Given the description of an element on the screen output the (x, y) to click on. 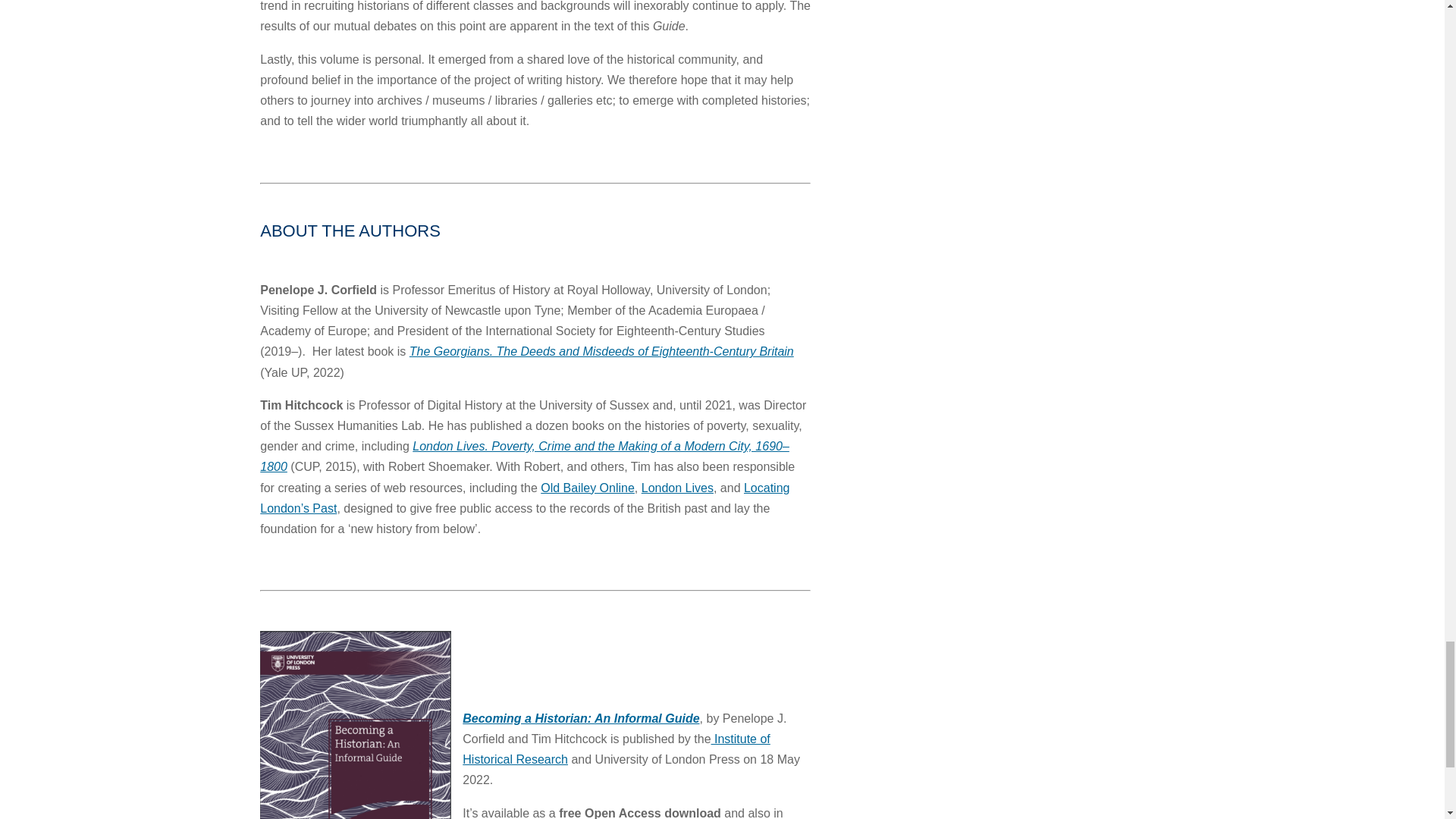
Institute of Historical Research (616, 748)
Old Bailey Online (587, 487)
London Lives (677, 487)
Becoming a Historian: An Informal Guide (580, 717)
